Given the description of an element on the screen output the (x, y) to click on. 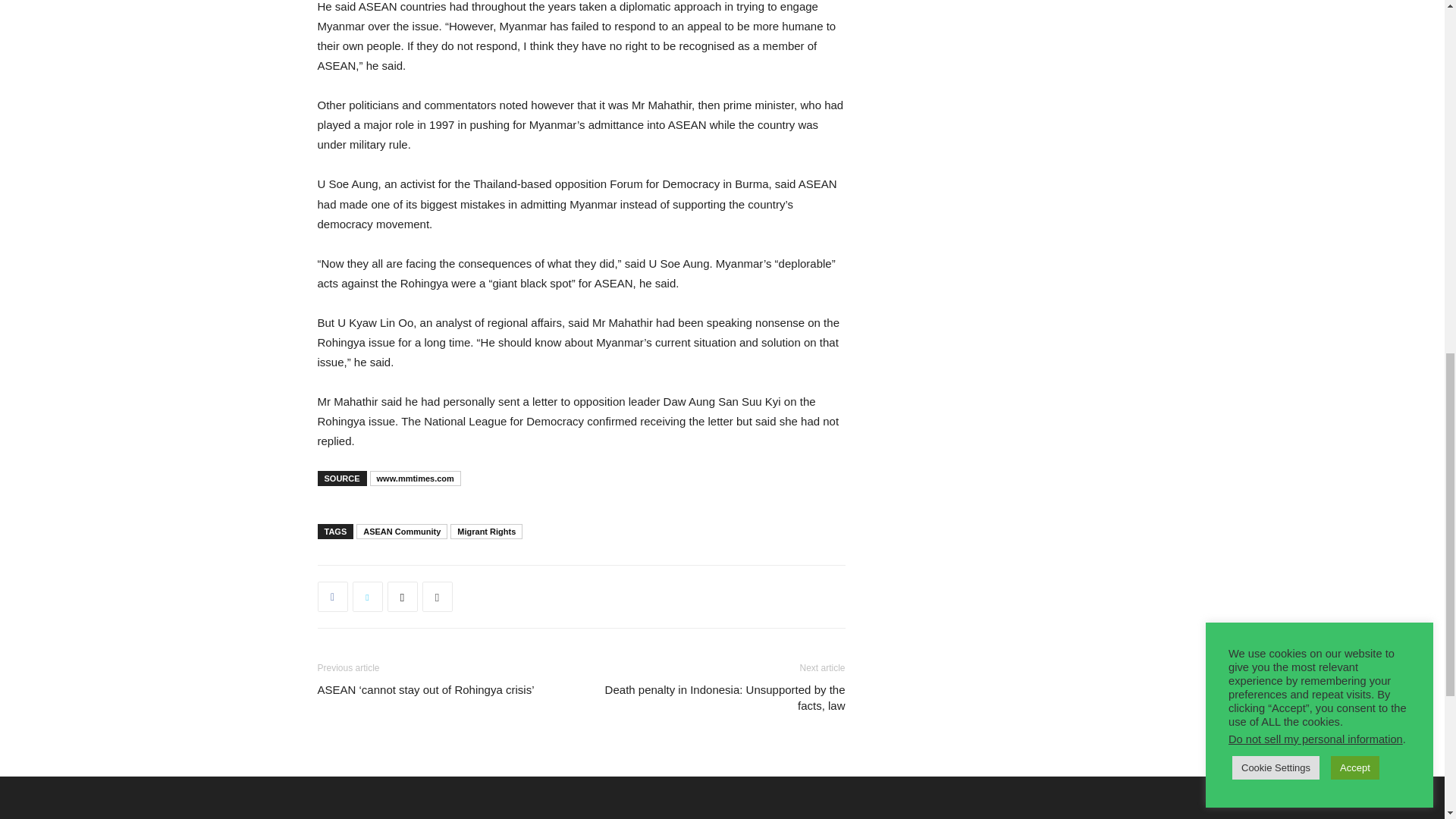
www.mmtimes.com (415, 478)
